Given the description of an element on the screen output the (x, y) to click on. 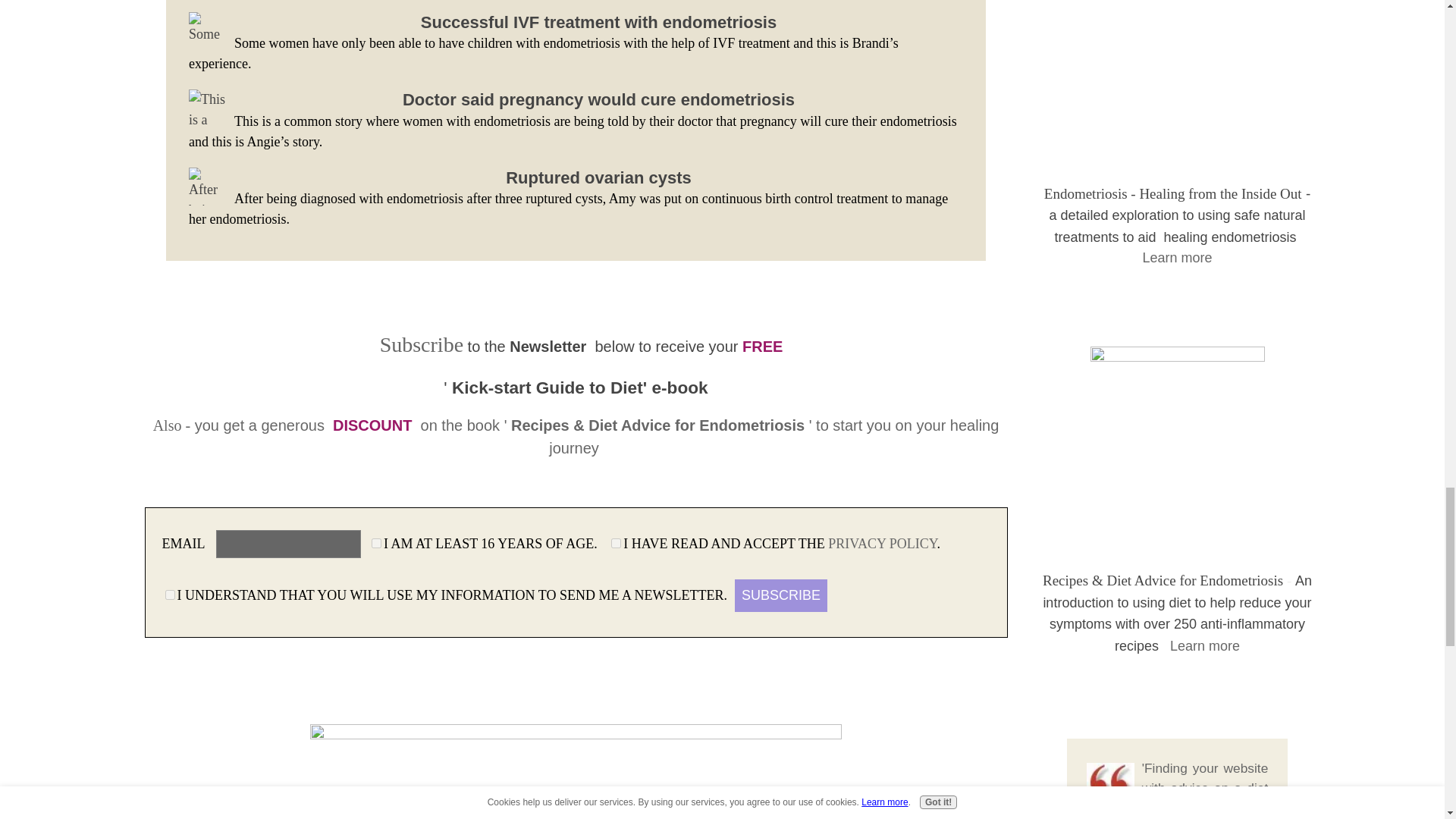
on (616, 542)
PRIVACY POLICY (882, 543)
Successful IVF treatment with endometriosis (598, 21)
on (169, 594)
on (376, 542)
Go to Endometriosis diet book (1177, 356)
Doctor said pregnancy would cure endometriosis (598, 99)
Ruptured ovarian cysts (598, 177)
SUBSCRIBE (781, 595)
